Given the description of an element on the screen output the (x, y) to click on. 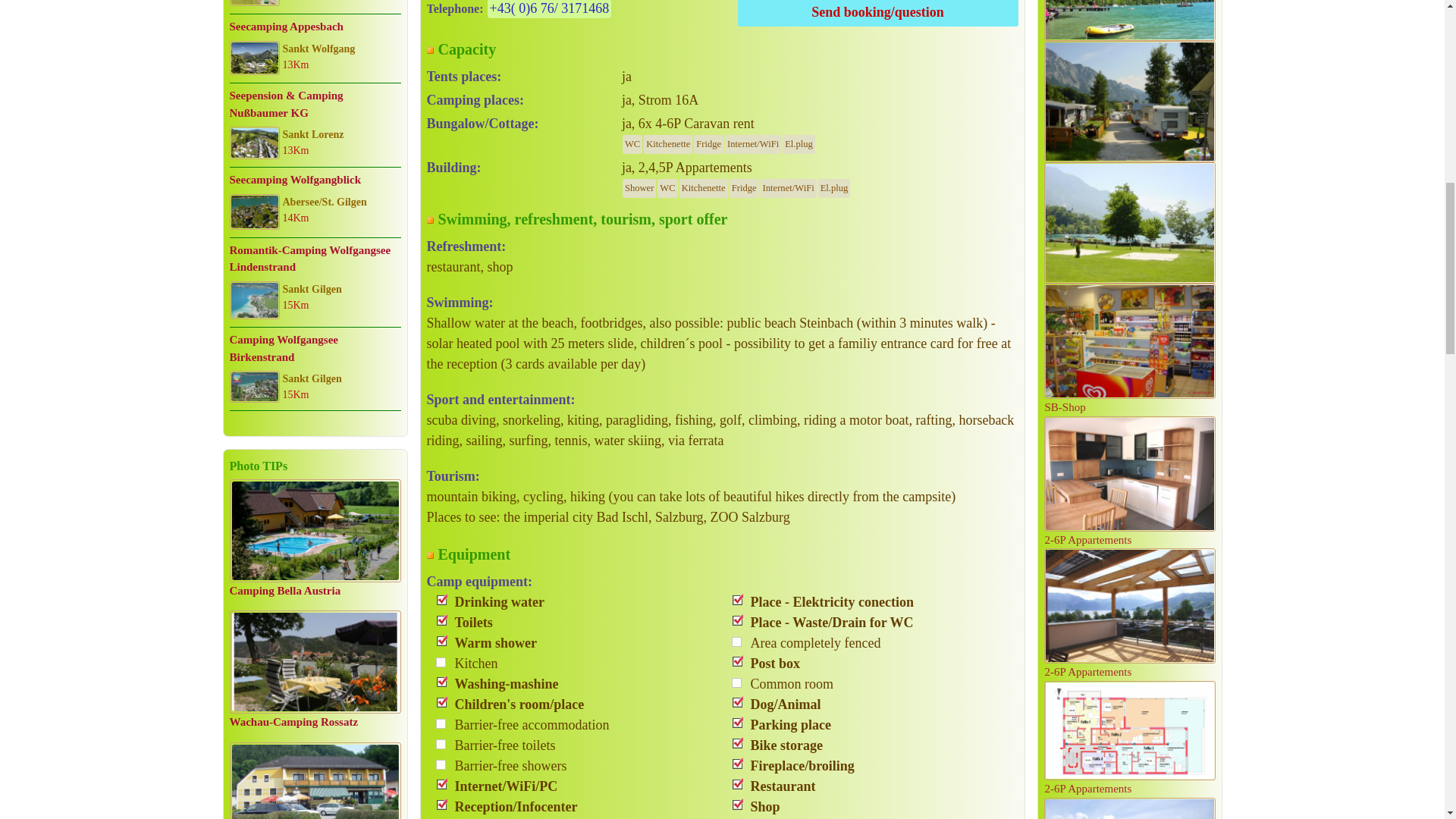
Seecamping Wolfgangblick (254, 211)
Camping Bella Austria, Peterdorf, Styria (314, 530)
Wachau-Camping Rossatz, Rossatzbach, Lower Austria (314, 661)
Seecamping Appesbach (254, 58)
Camping Wolfgangsee Birkenstrand (254, 386)
Camping Bella Austria, Styria (284, 590)
Wachau-Camping Rossatz, Lower Austria (293, 721)
Romantik-Camping Wolfgangsee Lindenstrand (254, 300)
